Given the description of an element on the screen output the (x, y) to click on. 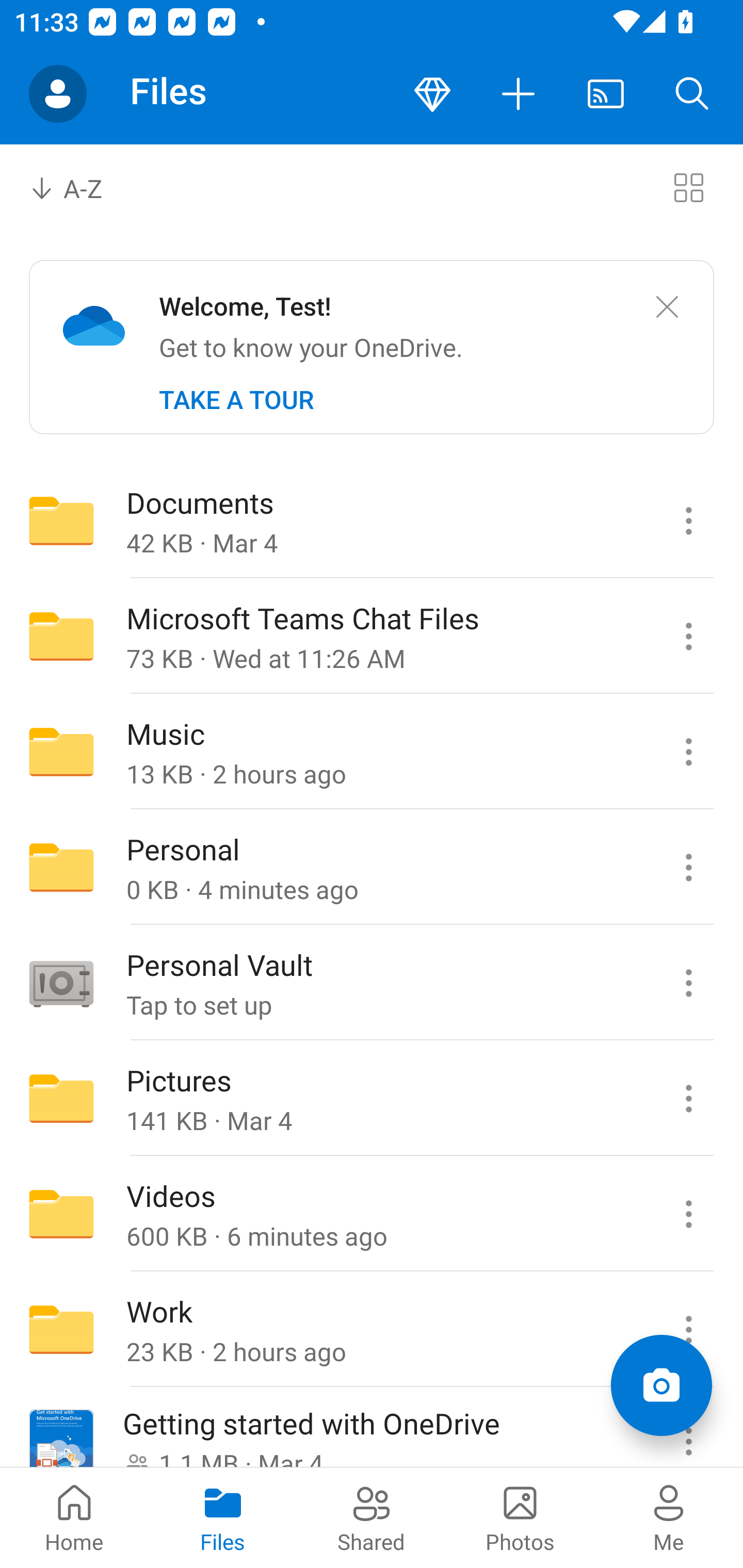
Account switcher (57, 93)
Cast. Disconnected (605, 93)
Premium button (432, 93)
More actions button (518, 93)
Search button (692, 93)
A-Z Sort by combo box, sort by name, A to Z (80, 187)
Switch to tiles view (688, 187)
Close (667, 307)
TAKE A TOUR (236, 399)
Folder Documents 42 KB · Mar 4 Documents commands (371, 520)
Documents commands (688, 520)
Microsoft Teams Chat Files commands (688, 636)
Folder Music 13 KB · 2 hours ago Music commands (371, 751)
Music commands (688, 751)
Personal commands (688, 867)
Personal Vault commands (688, 983)
Folder Pictures 141 KB · Mar 4 Pictures commands (371, 1099)
Pictures commands (688, 1099)
Videos commands (688, 1214)
Folder Work 23 KB · 2 hours ago Work commands (371, 1329)
Work commands (688, 1329)
Add items Scan (660, 1385)
Getting started with OneDrive commands (688, 1427)
Home pivot Home (74, 1517)
Shared pivot Shared (371, 1517)
Photos pivot Photos (519, 1517)
Me pivot Me (668, 1517)
